Given the description of an element on the screen output the (x, y) to click on. 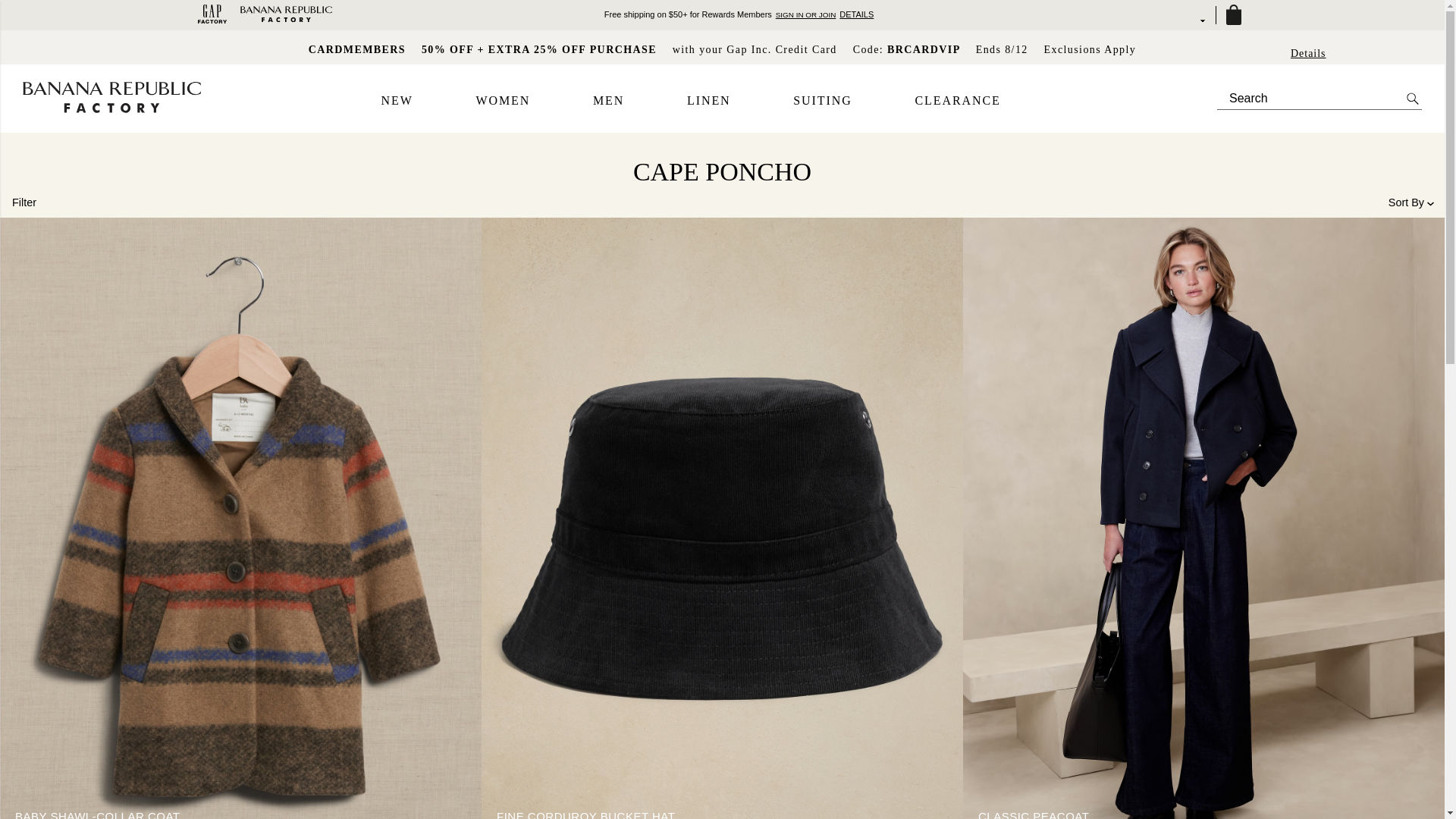
CLEARANCE (957, 101)
WOMEN (502, 101)
Details (1308, 53)
SUITING (822, 101)
DETAILS (856, 13)
SIGN IN OR JOIN (805, 14)
Bag (1232, 15)
